Given the description of an element on the screen output the (x, y) to click on. 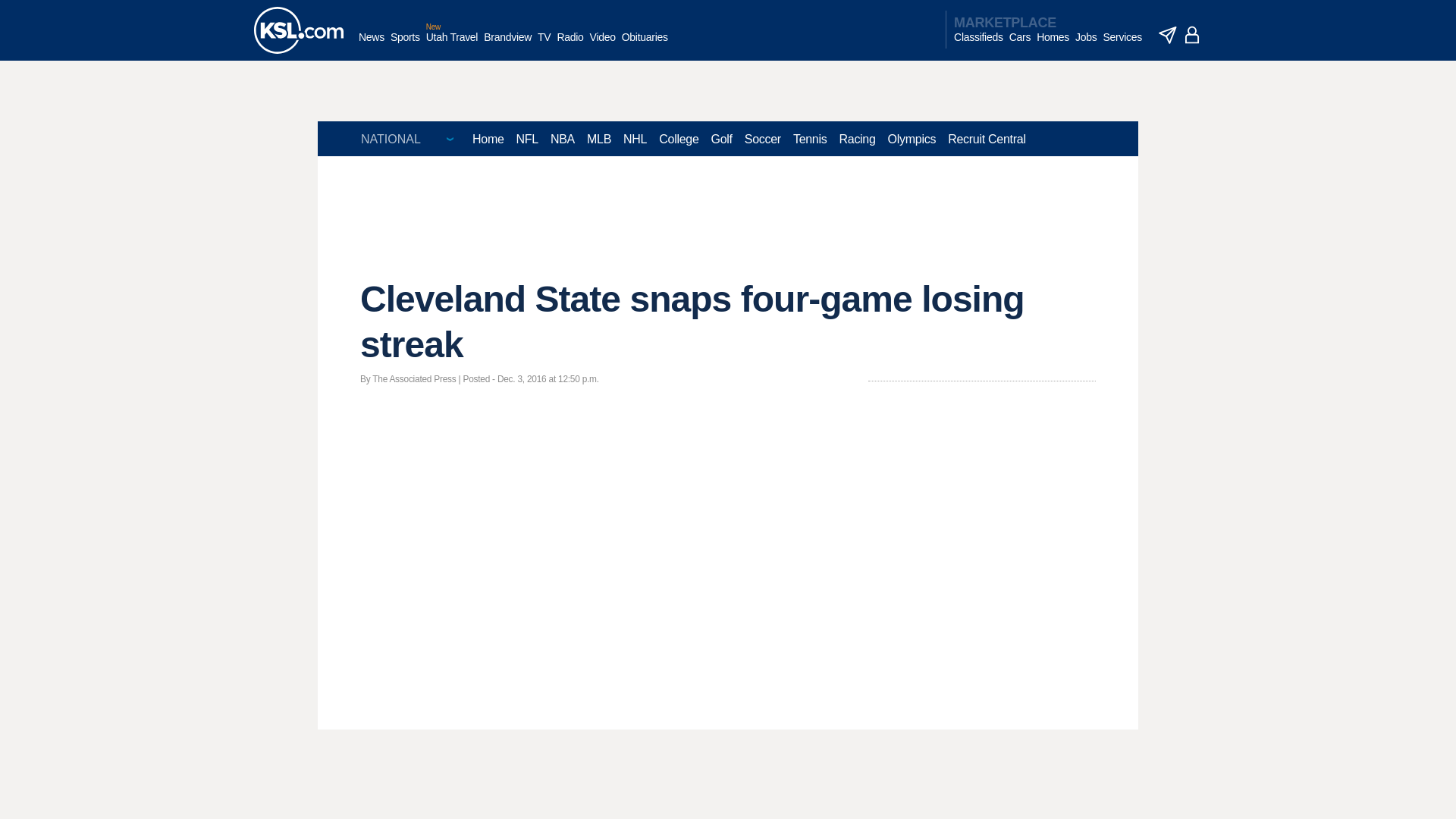
Sports (405, 45)
KSL homepage (298, 29)
account - logged out (1191, 34)
Brandview (507, 45)
KSL homepage (298, 30)
Utah Travel (452, 45)
